Given the description of an element on the screen output the (x, y) to click on. 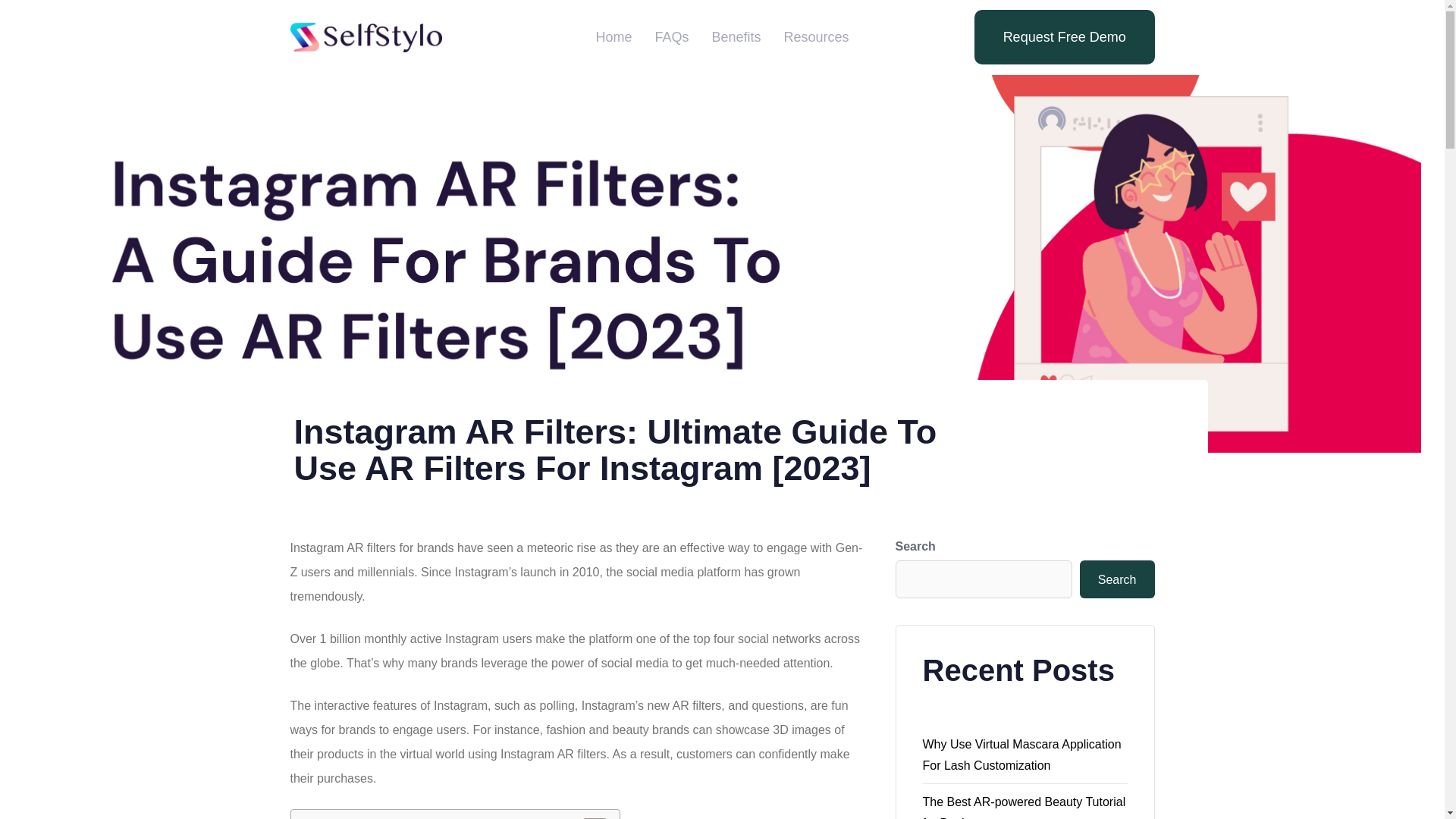
Resources (816, 37)
Request Free Demo (1064, 36)
Benefits (735, 37)
